Given the description of an element on the screen output the (x, y) to click on. 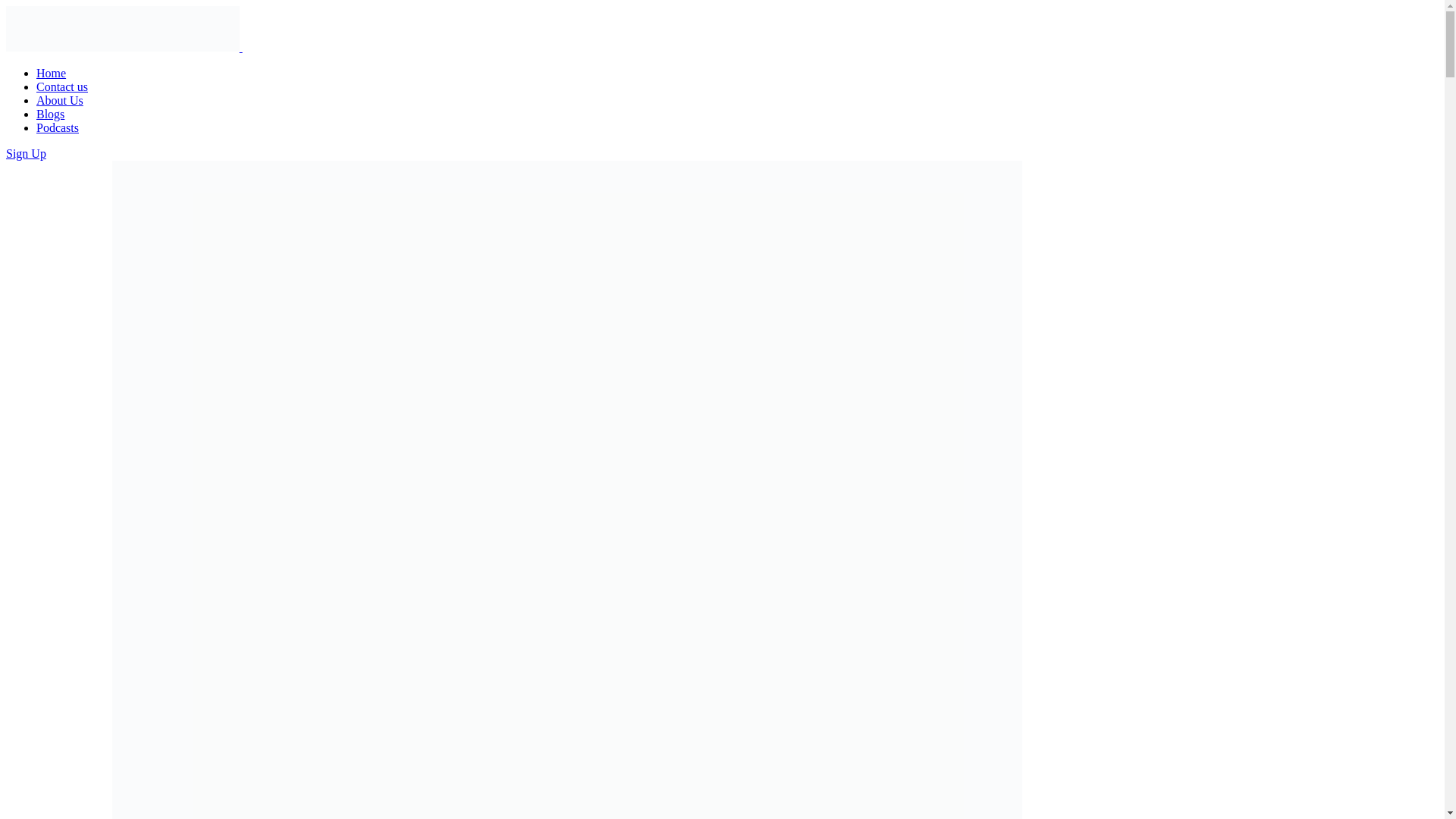
Contact us (61, 86)
About Us (59, 100)
Home (50, 72)
Blogs (50, 113)
Sign Up (25, 153)
Podcasts (57, 127)
